Given the description of an element on the screen output the (x, y) to click on. 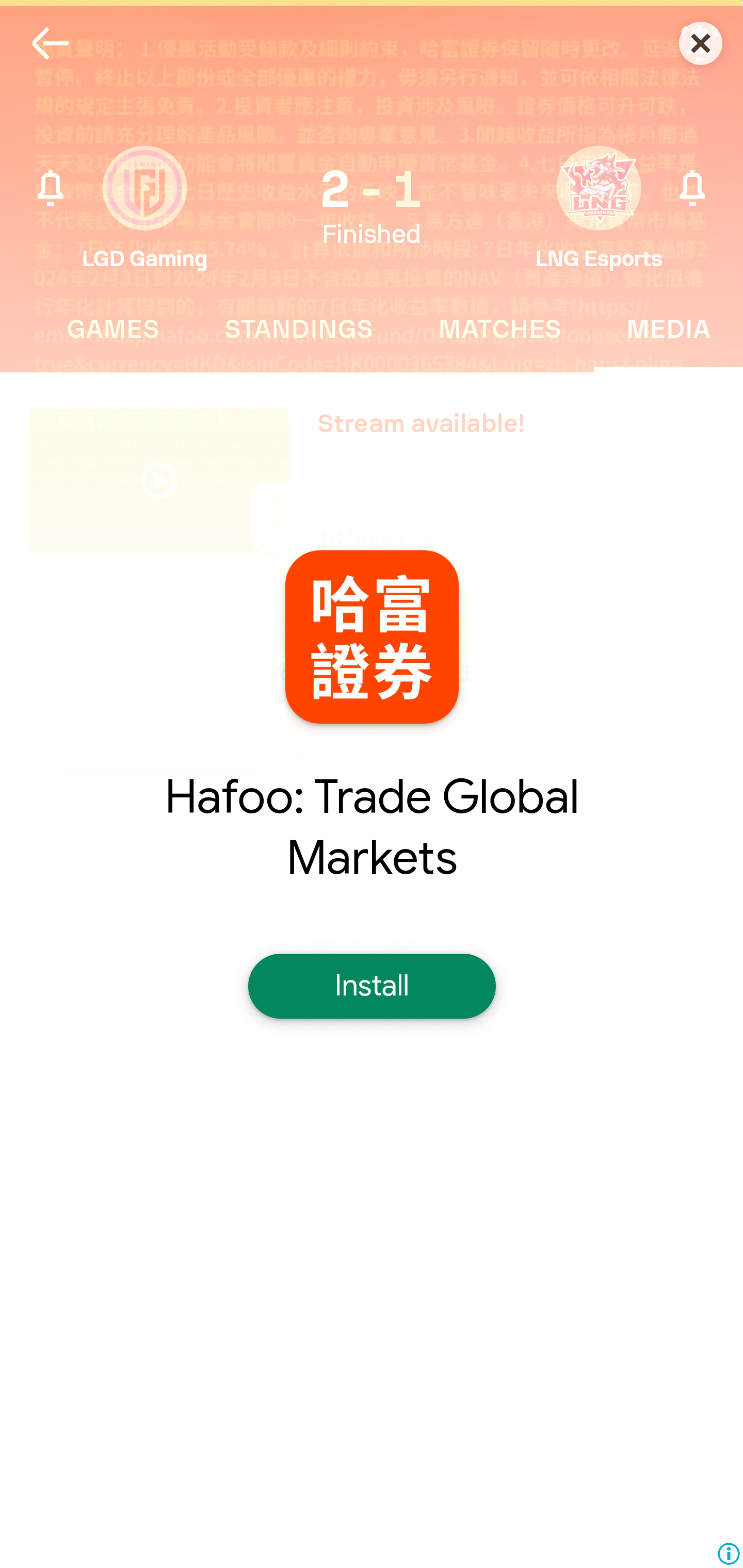
Install (371, 986)
